Given the description of an element on the screen output the (x, y) to click on. 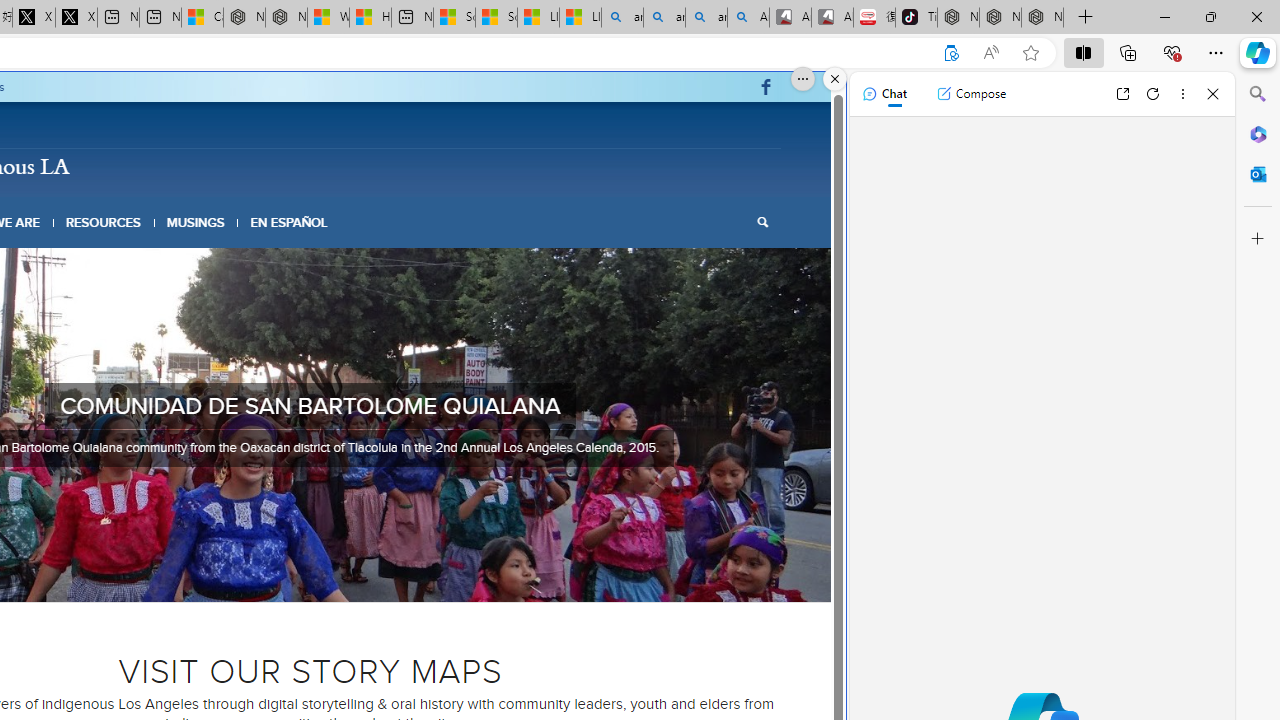
8 (365, 576)
2 (269, 576)
1 (254, 576)
